Given the description of an element on the screen output the (x, y) to click on. 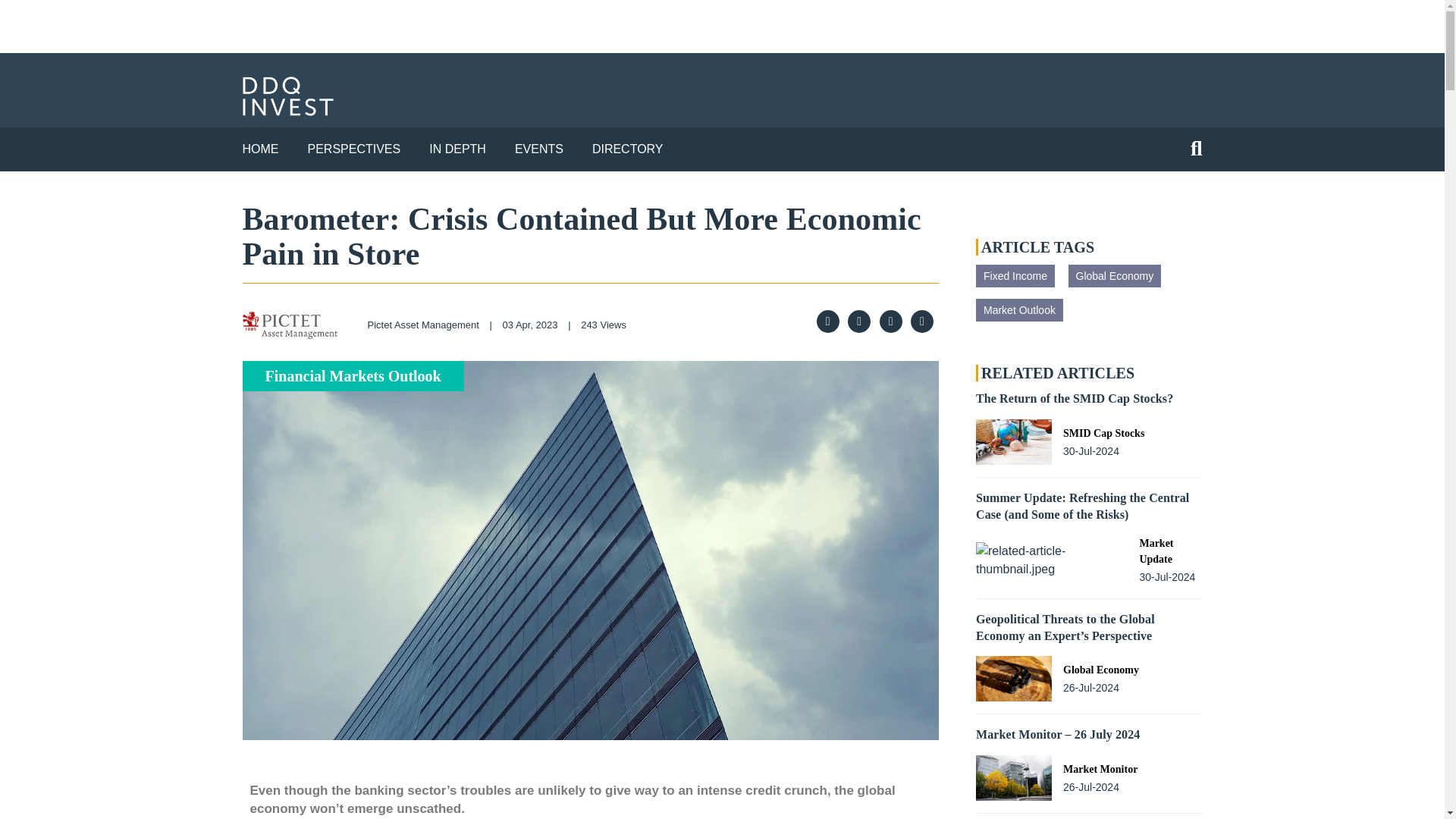
The Return of the SMID Cap Stocks? (1074, 398)
Market Update (1097, 549)
DIRECTORY (627, 149)
Market Outlook (1018, 309)
PERSPECTIVES (354, 149)
Market Monitor (1099, 763)
Global Economy (1113, 275)
EVENTS (539, 149)
IN DEPTH (457, 149)
Fixed Income (1014, 275)
